Given the description of an element on the screen output the (x, y) to click on. 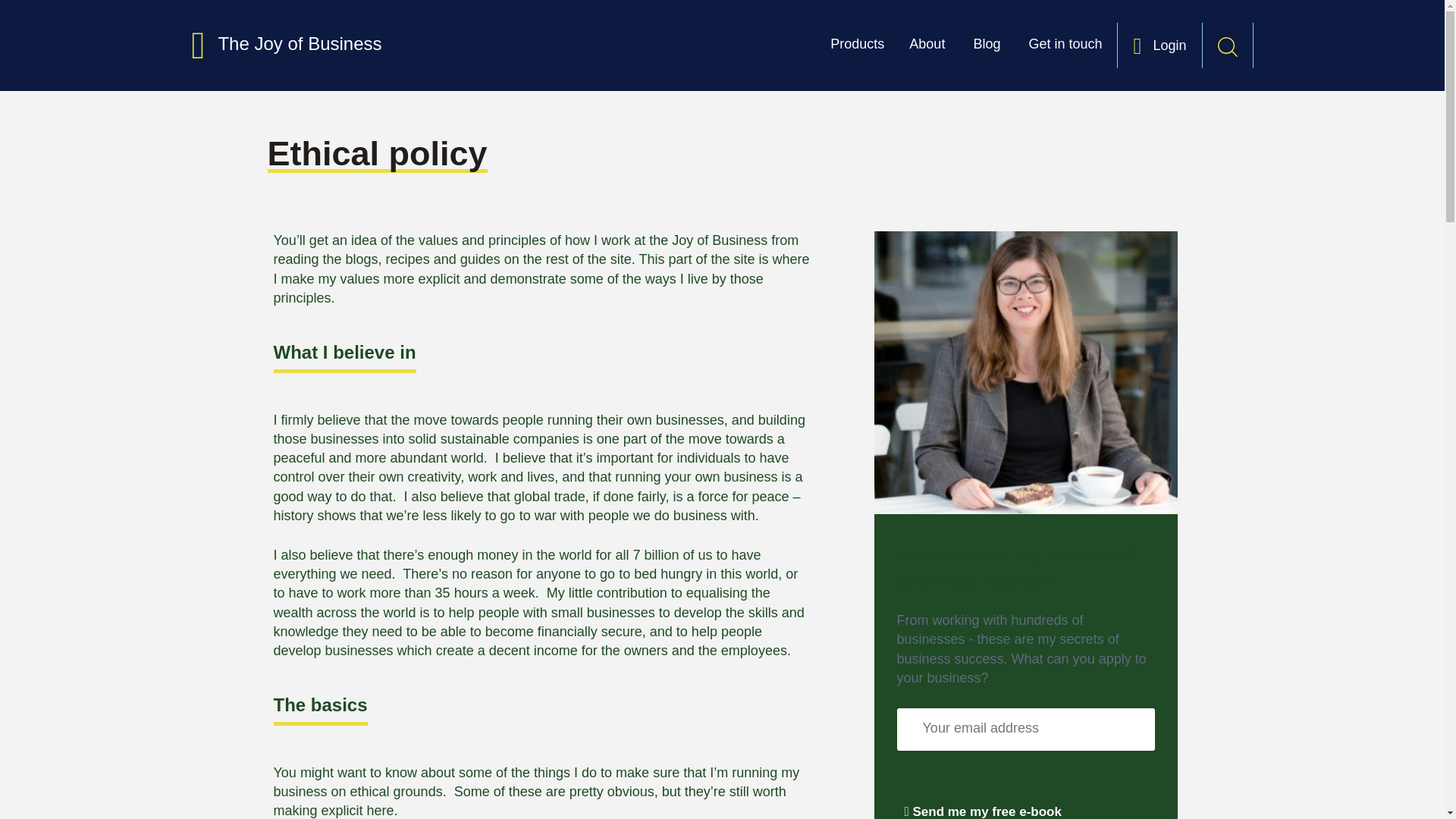
The Joy of Business (285, 43)
Products (856, 49)
Get in touch (1064, 49)
Login (1159, 49)
Get your amazing content (1006, 796)
